Given the description of an element on the screen output the (x, y) to click on. 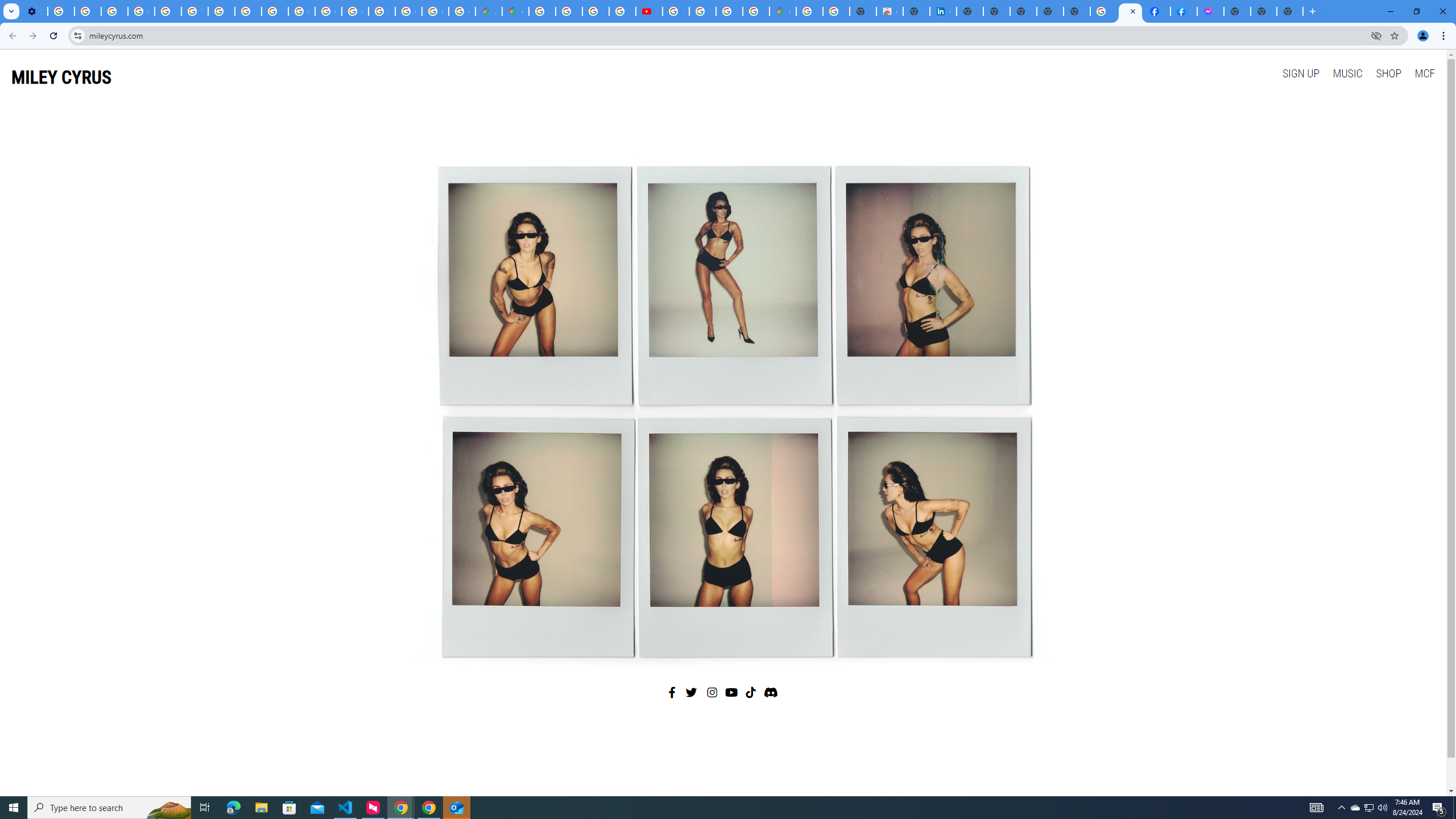
Chrome Web Store (889, 11)
MILEY CYRUS. (1130, 11)
Blogger Policies and Guidelines - Transparency Center (542, 11)
Google Maps (515, 11)
Privacy Help Center - Policies Help (569, 11)
Privacy Help Center - Policies Help (595, 11)
YouTube (194, 11)
MILEY CYRUS (61, 77)
